Given the description of an element on the screen output the (x, y) to click on. 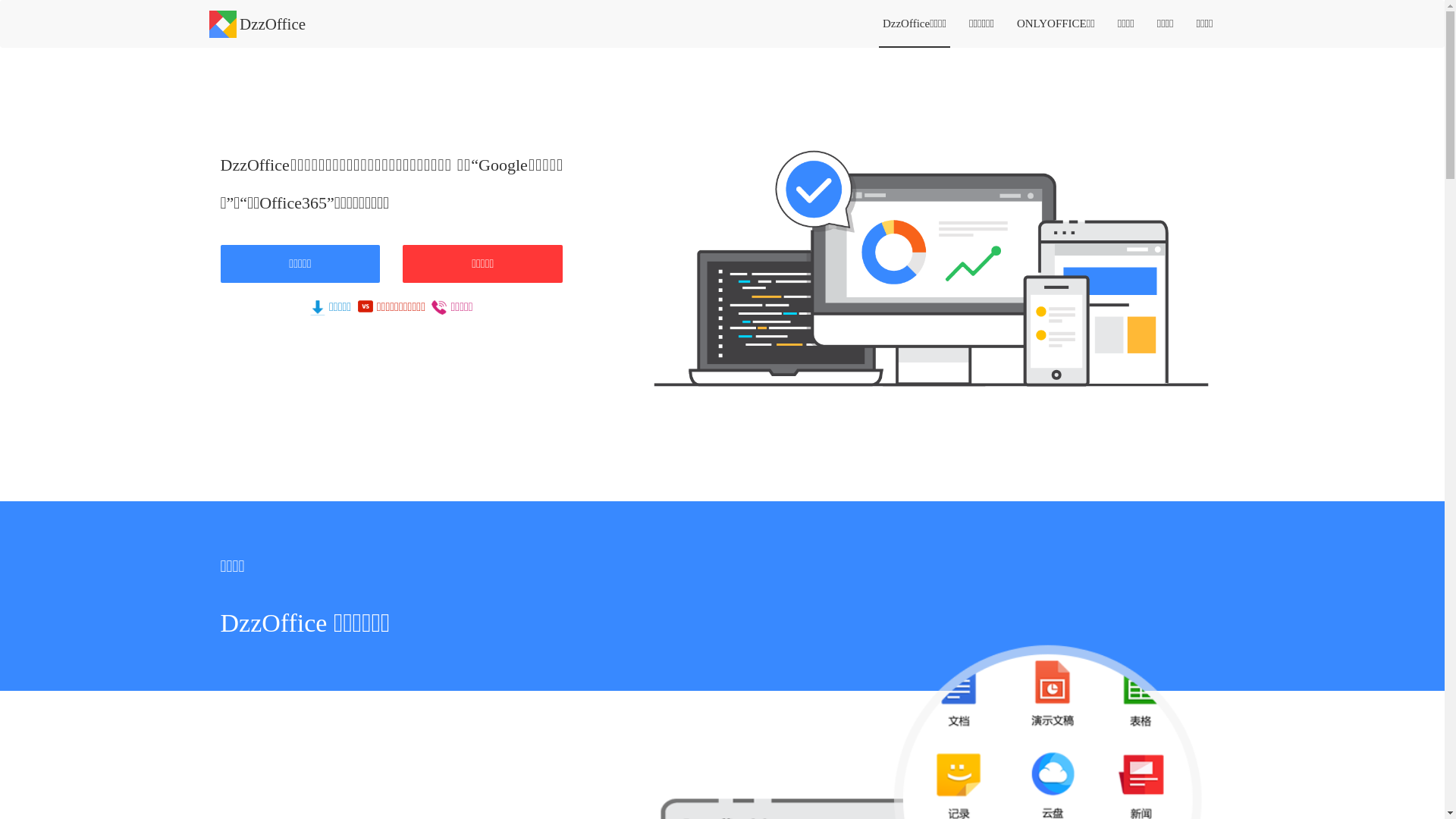
DzzOffice Element type: text (257, 18)
